Given the description of an element on the screen output the (x, y) to click on. 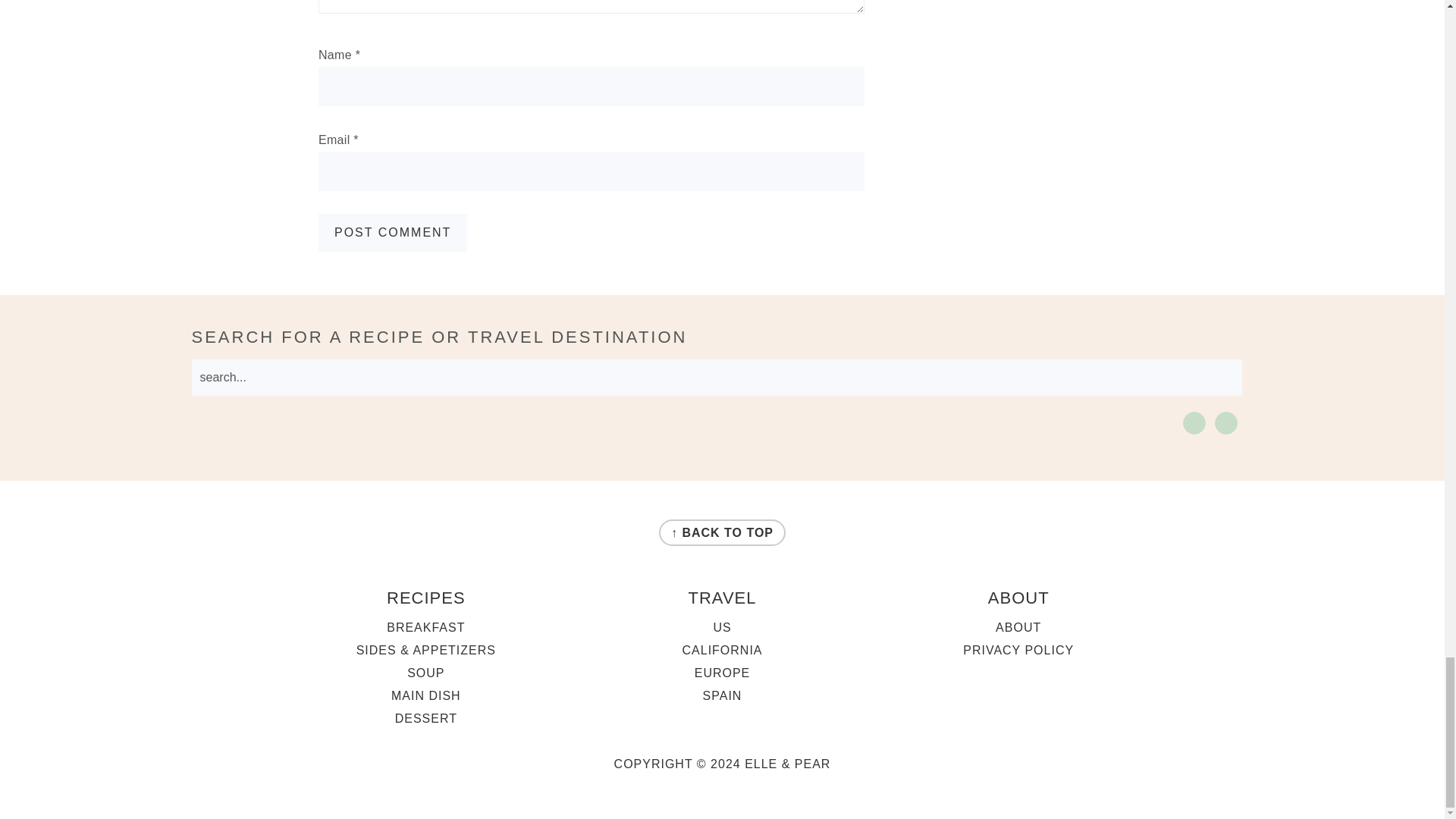
Post Comment (392, 232)
Post Comment (392, 232)
